Given the description of an element on the screen output the (x, y) to click on. 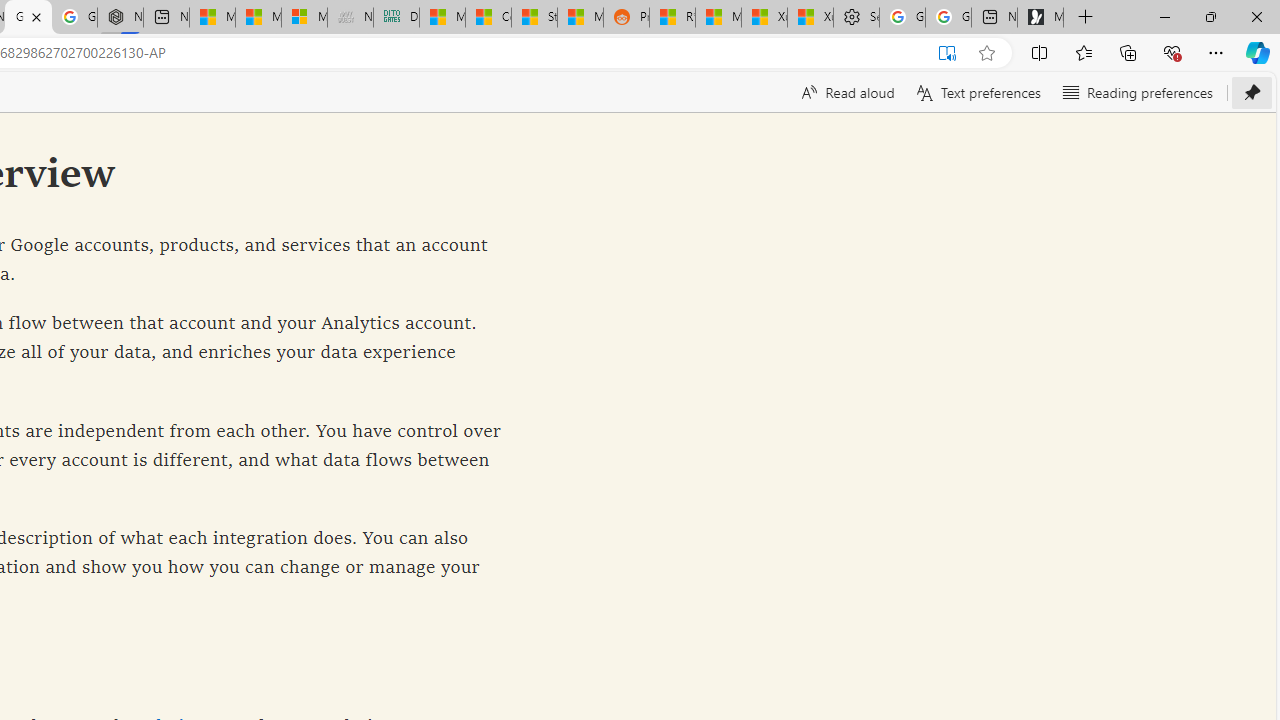
R******* | Trusted Community Engagement and Contributions (672, 17)
Unpin toolbar (1252, 92)
Text preferences (976, 92)
